Given the description of an element on the screen output the (x, y) to click on. 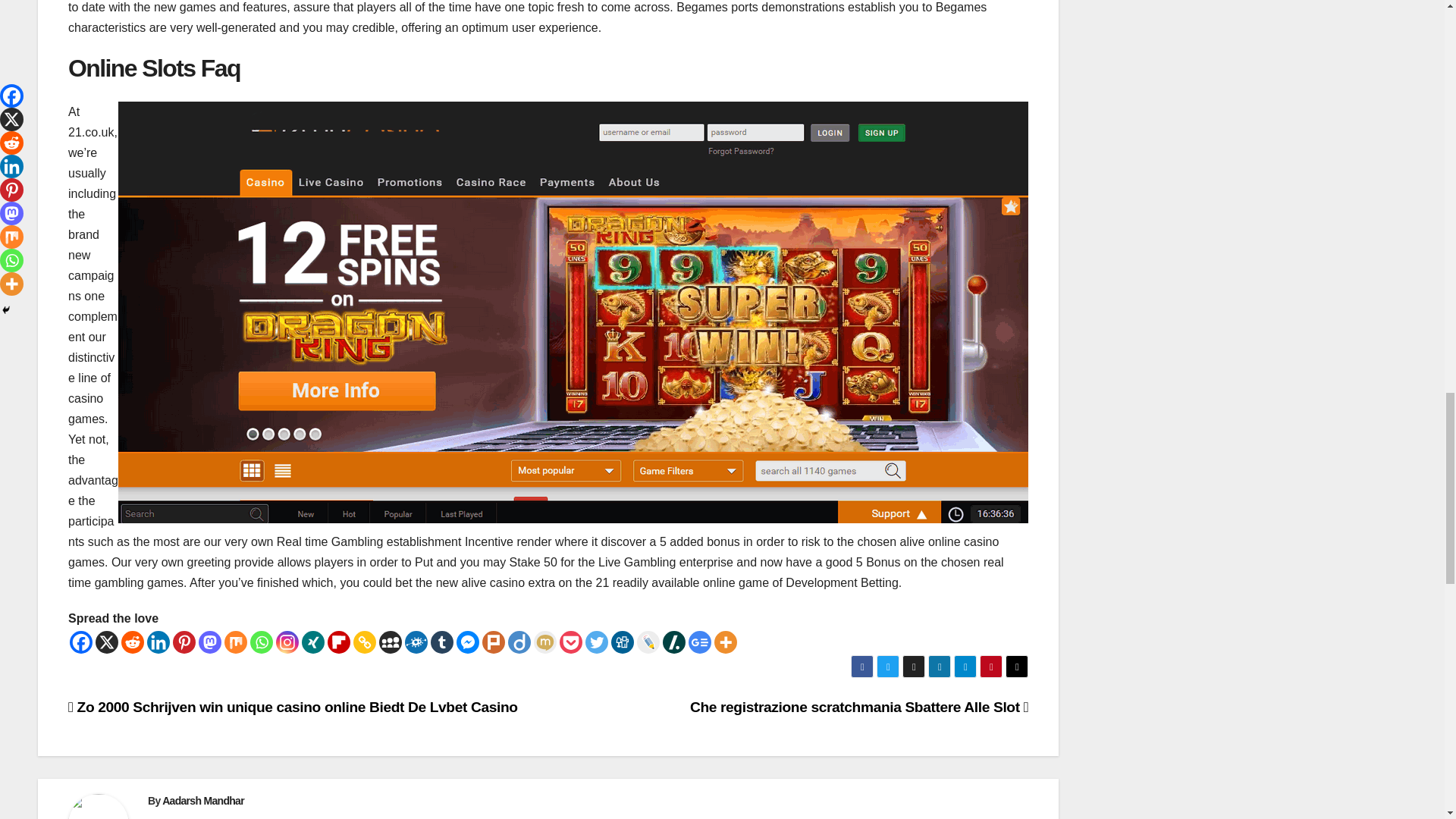
Whatsapp (261, 641)
Mix (235, 641)
xing (312, 641)
Facebook (81, 641)
Linkedin (158, 641)
Mastodon (209, 641)
Instagram (287, 641)
X (106, 641)
Reddit (132, 641)
Pinterest (184, 641)
